Given the description of an element on the screen output the (x, y) to click on. 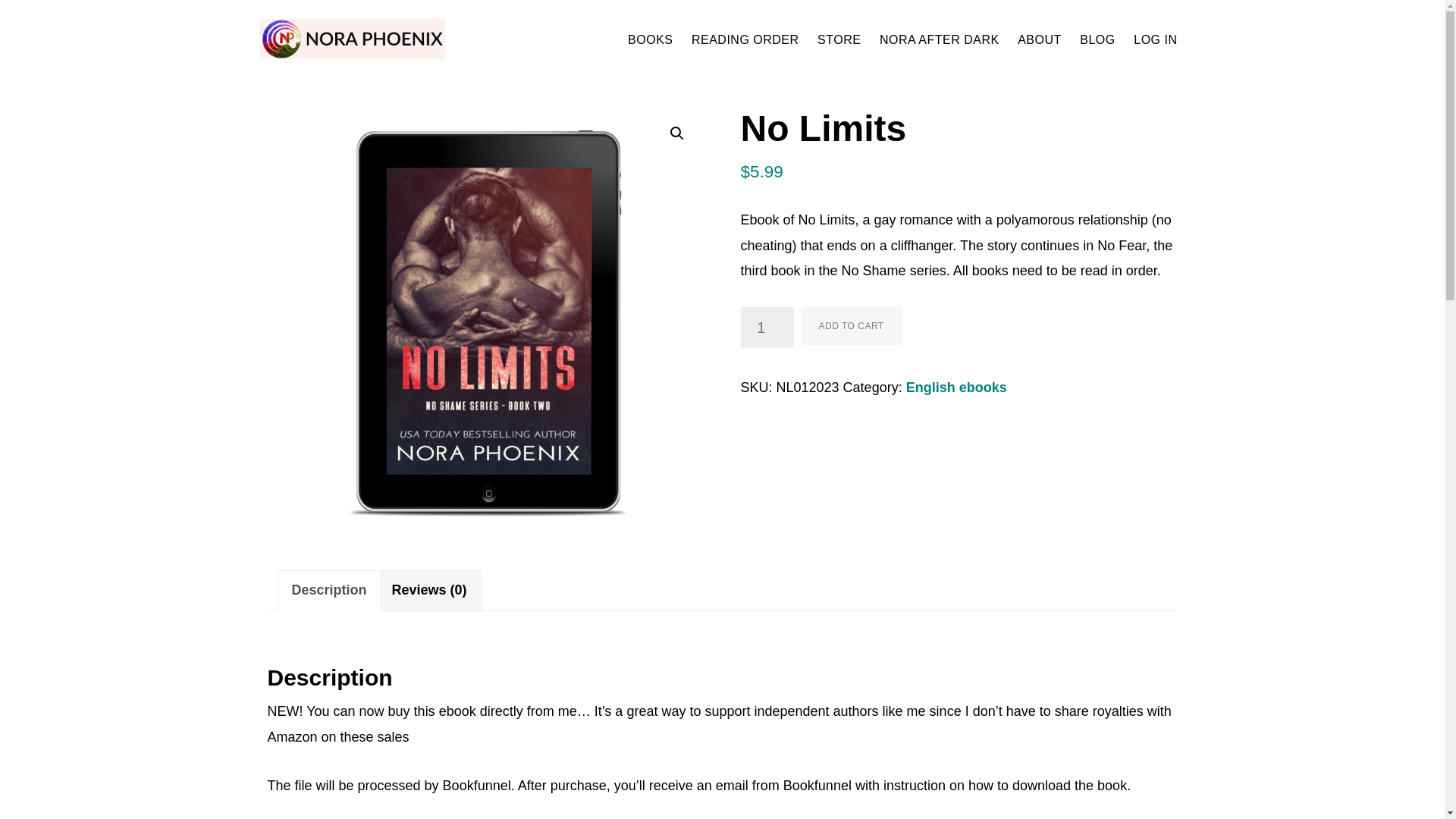
BOOKS (649, 39)
NORA AFTER DARK (939, 39)
READING ORDER (745, 39)
ADD TO CART (851, 325)
STORE (838, 39)
LOG IN (1155, 39)
1 (766, 327)
BLOG (1096, 39)
